Given the description of an element on the screen output the (x, y) to click on. 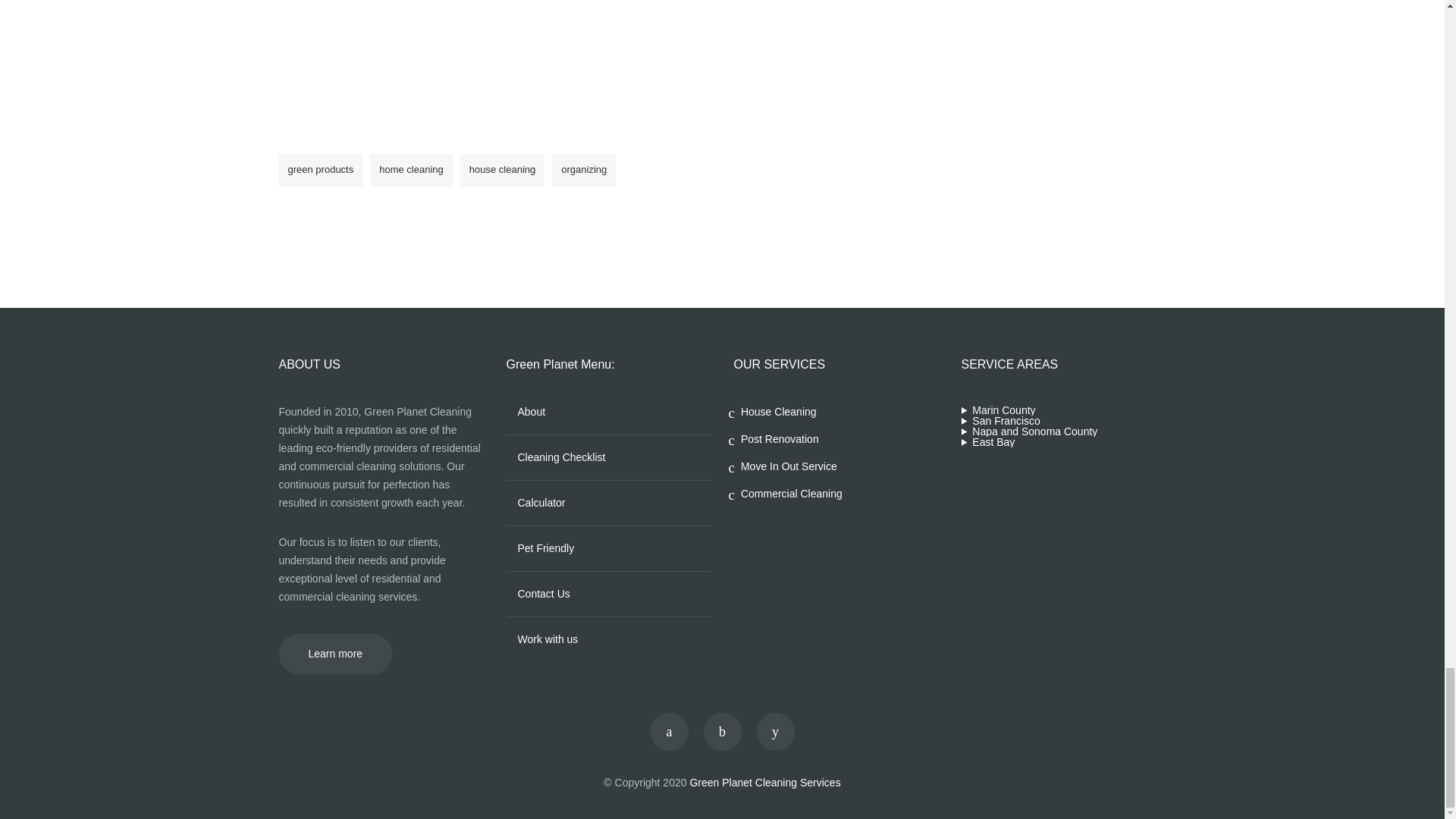
View all posts filed under green products (320, 169)
View all posts filed under house cleaning (502, 169)
View all posts filed under home cleaning (410, 169)
View all posts filed under organizing (583, 169)
